Given the description of an element on the screen output the (x, y) to click on. 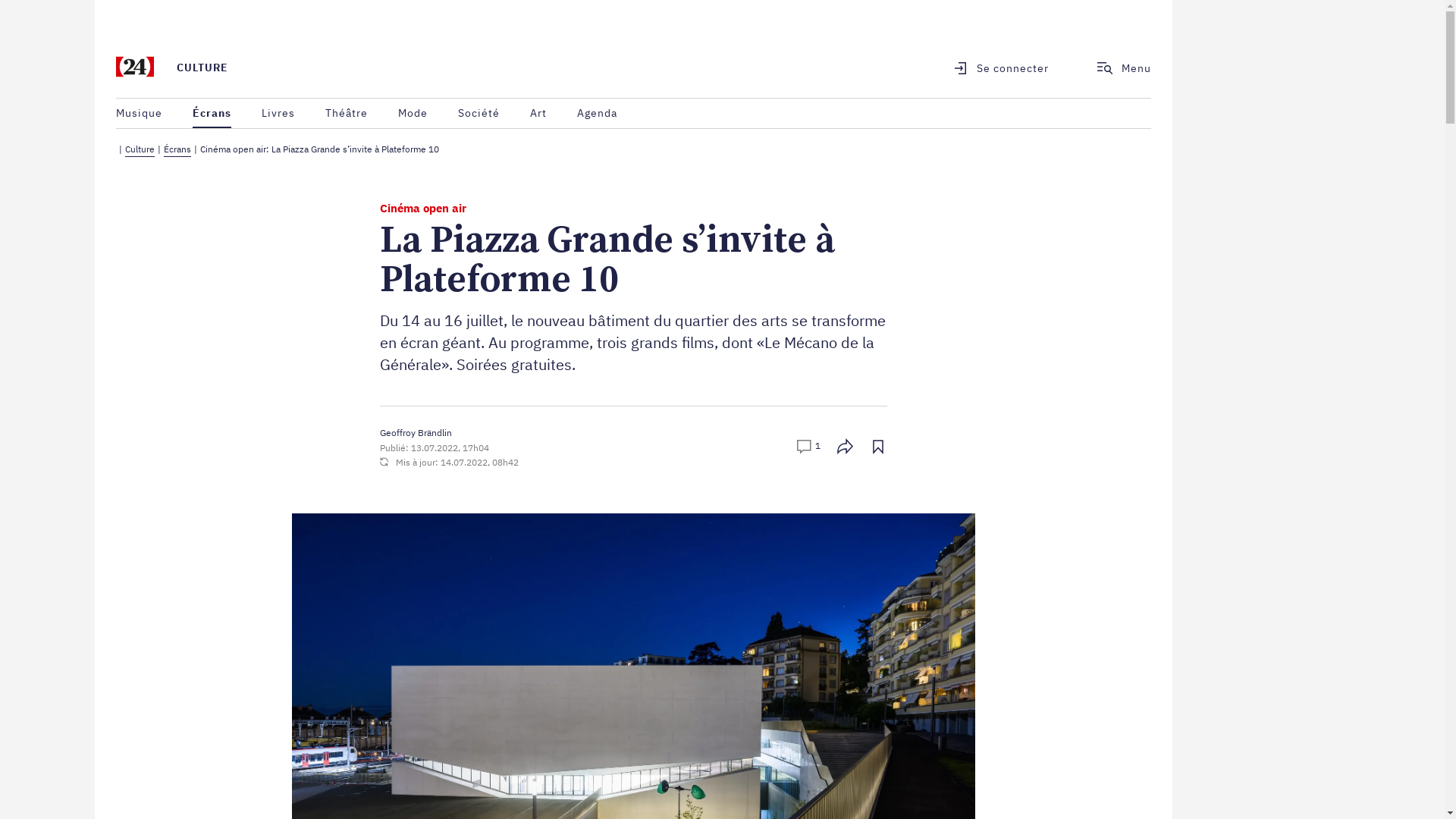
Agenda Element type: text (597, 113)
Art Element type: text (538, 113)
Culture Element type: text (139, 149)
Se connecter Element type: text (991, 68)
Musique Element type: text (139, 113)
1 Element type: text (807, 448)
CULTURE Element type: text (202, 67)
Menu Element type: text (1123, 67)
Mode Element type: text (412, 113)
Passer au contenu principal Element type: text (94, 0)
Livres Element type: text (277, 113)
24 Heures Element type: text (134, 67)
